Given the description of an element on the screen output the (x, y) to click on. 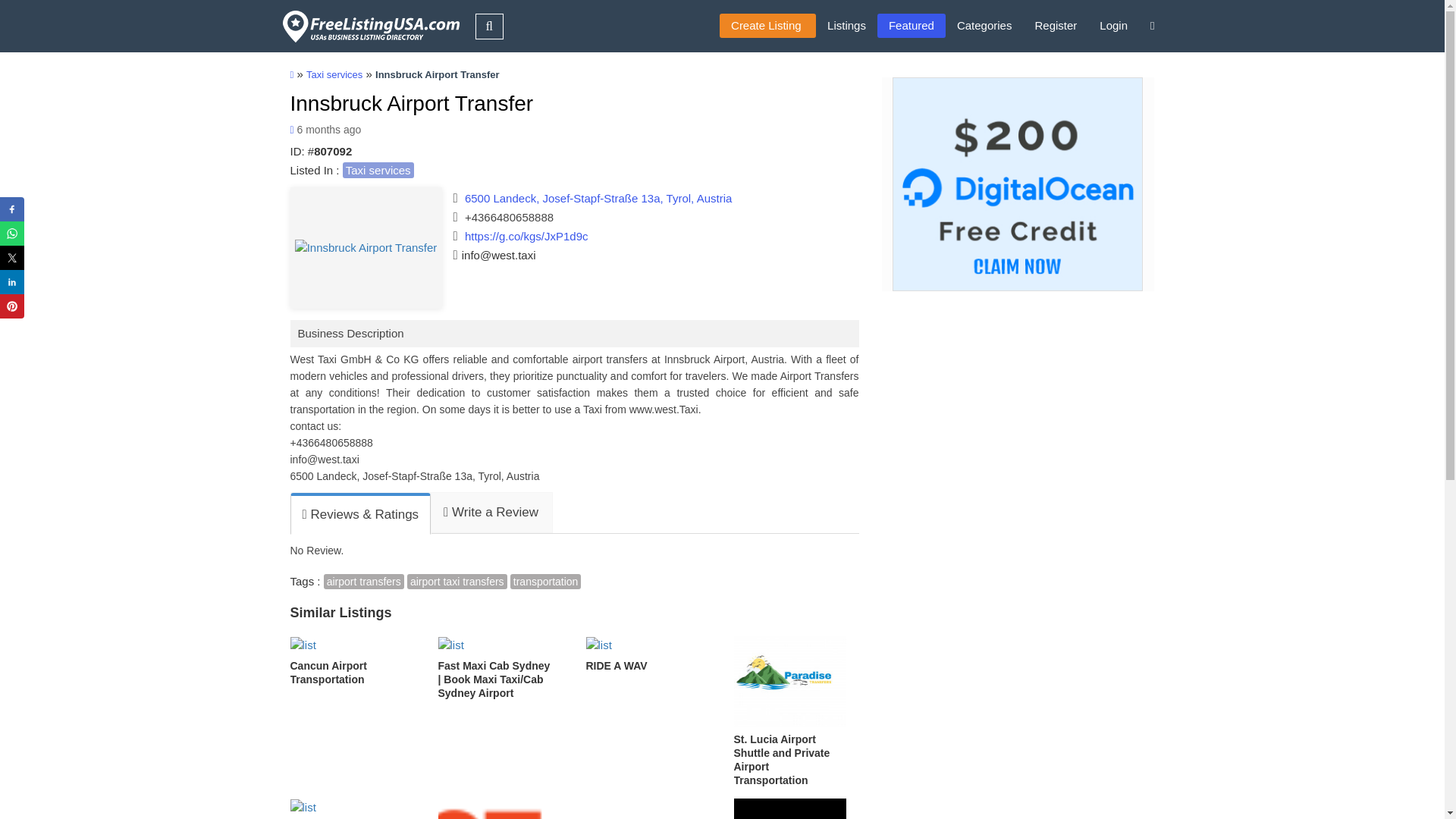
Featured (910, 25)
Listings (846, 25)
Taxi services (333, 74)
Login (1112, 25)
All Valley Transportation (351, 808)
Cancun Airport Transportation (351, 661)
Taxi services (377, 170)
Create Listing (767, 25)
Register (1055, 25)
Innsbruck Airport Transfer (410, 103)
